Given the description of an element on the screen output the (x, y) to click on. 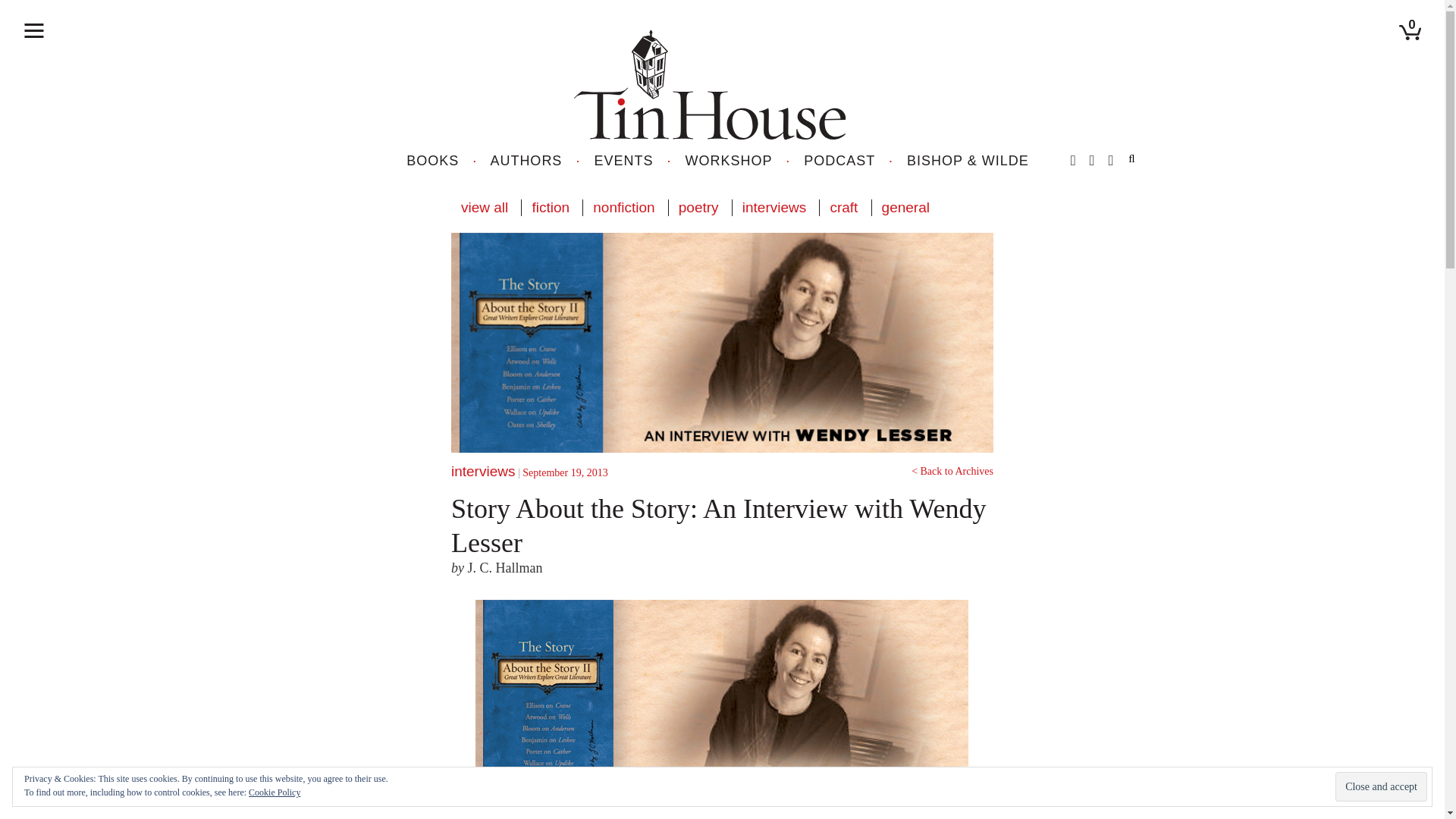
interviews (773, 207)
Created with Sketch. (709, 85)
view all (484, 207)
Close and accept (1380, 786)
BOOKS (432, 160)
general (905, 207)
WORKSHOP (729, 160)
AUTHORS (525, 160)
BG-SATS2-Lesser (722, 699)
EVENTS (623, 160)
created with sketch. (33, 30)
fiction (550, 207)
created with sketch. (34, 30)
nonfiction (623, 207)
craft (843, 207)
